Given the description of an element on the screen output the (x, y) to click on. 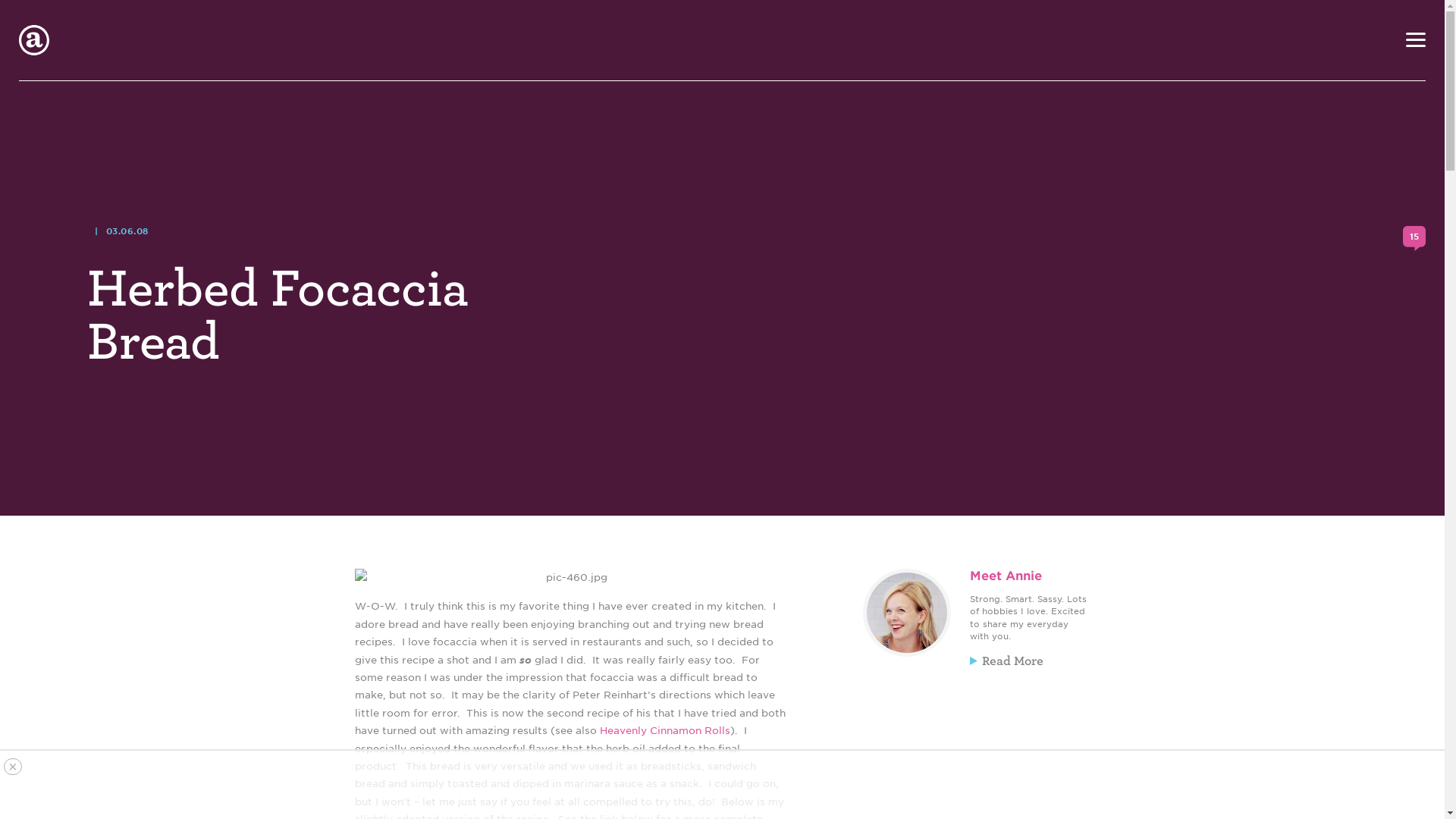
Heavenly Cinnamon Rolls (663, 730)
